Given the description of an element on the screen output the (x, y) to click on. 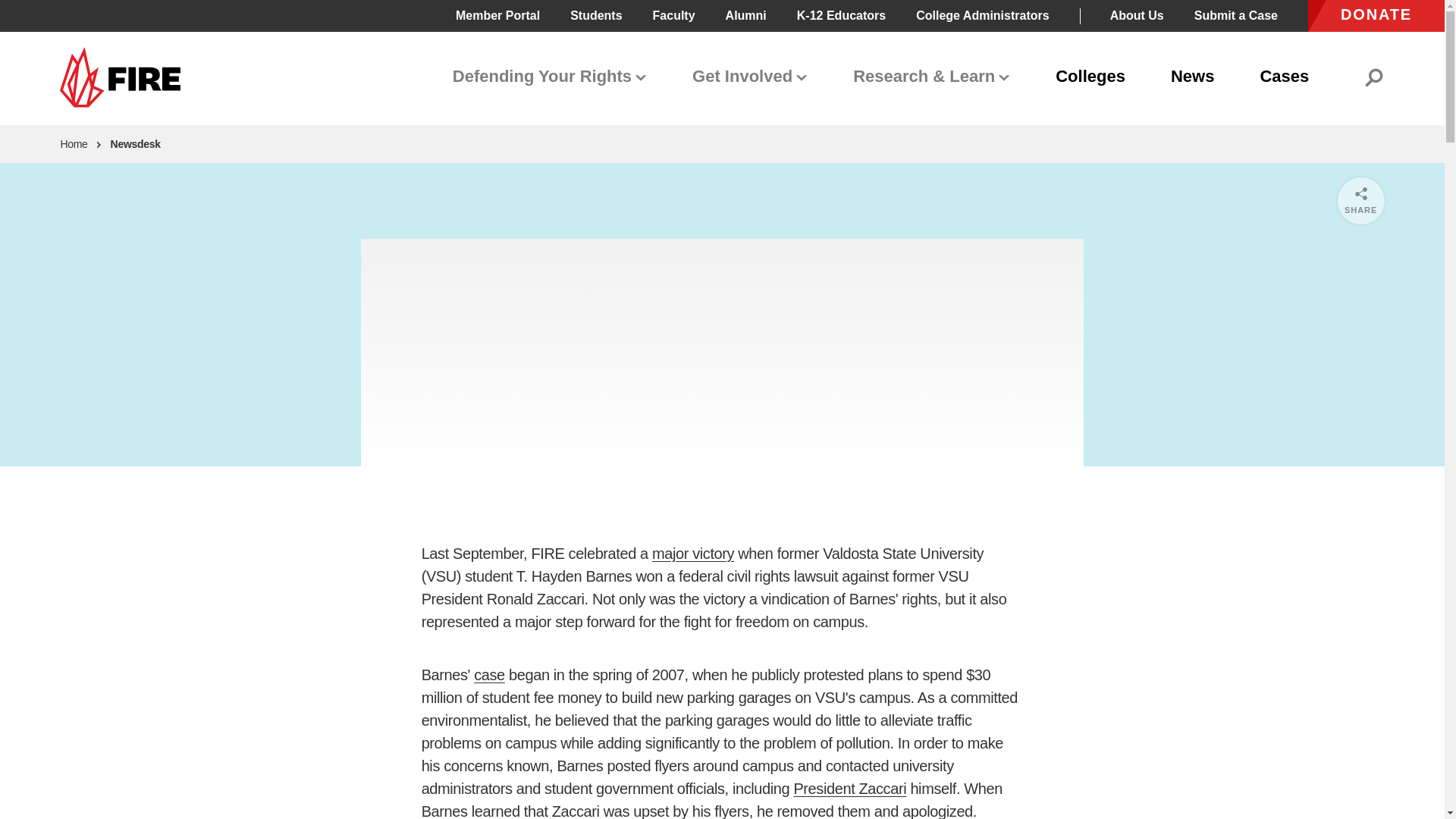
Get Involved (749, 77)
Alumni (746, 15)
Defending Your Rights (550, 77)
Students (595, 15)
About Us (1136, 15)
President Zaccari (849, 788)
major victory (692, 553)
K-12 Educators (840, 15)
Faculty (673, 15)
Member Portal (497, 15)
Submit a Case (1235, 15)
case (489, 674)
College Administrators (981, 15)
